Given the description of an element on the screen output the (x, y) to click on. 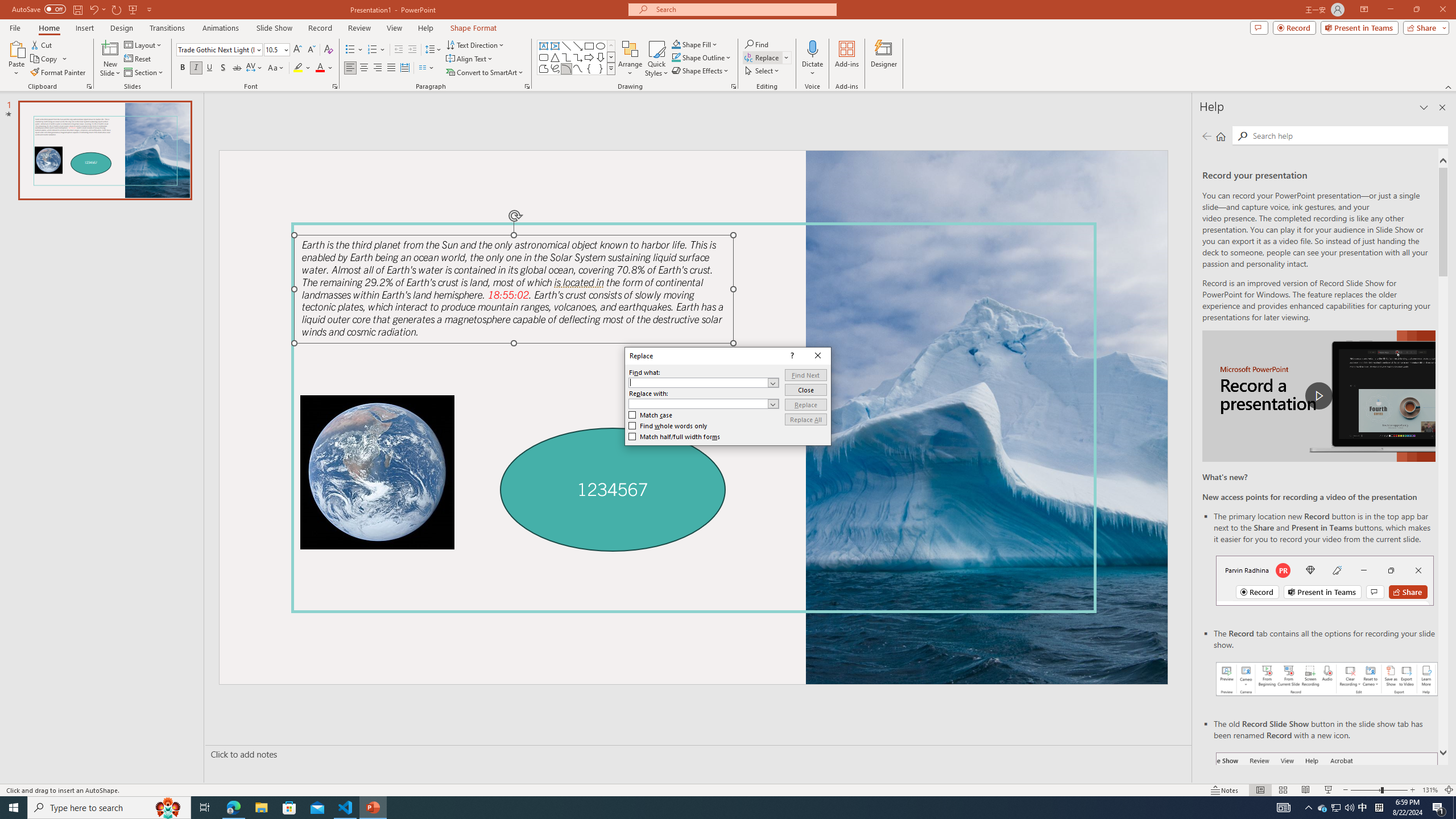
Replace with (703, 403)
